Given the description of an element on the screen output the (x, y) to click on. 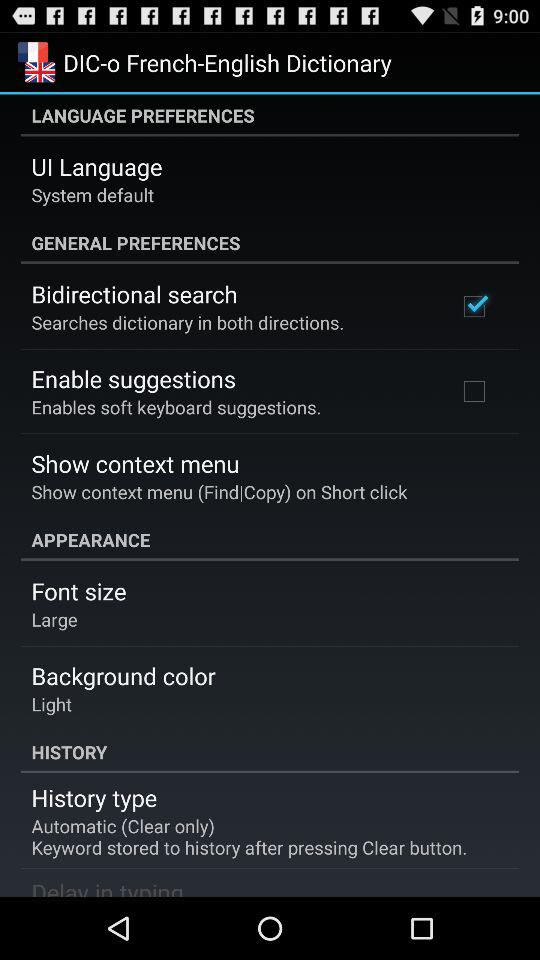
swipe to ui language app (96, 166)
